Given the description of an element on the screen output the (x, y) to click on. 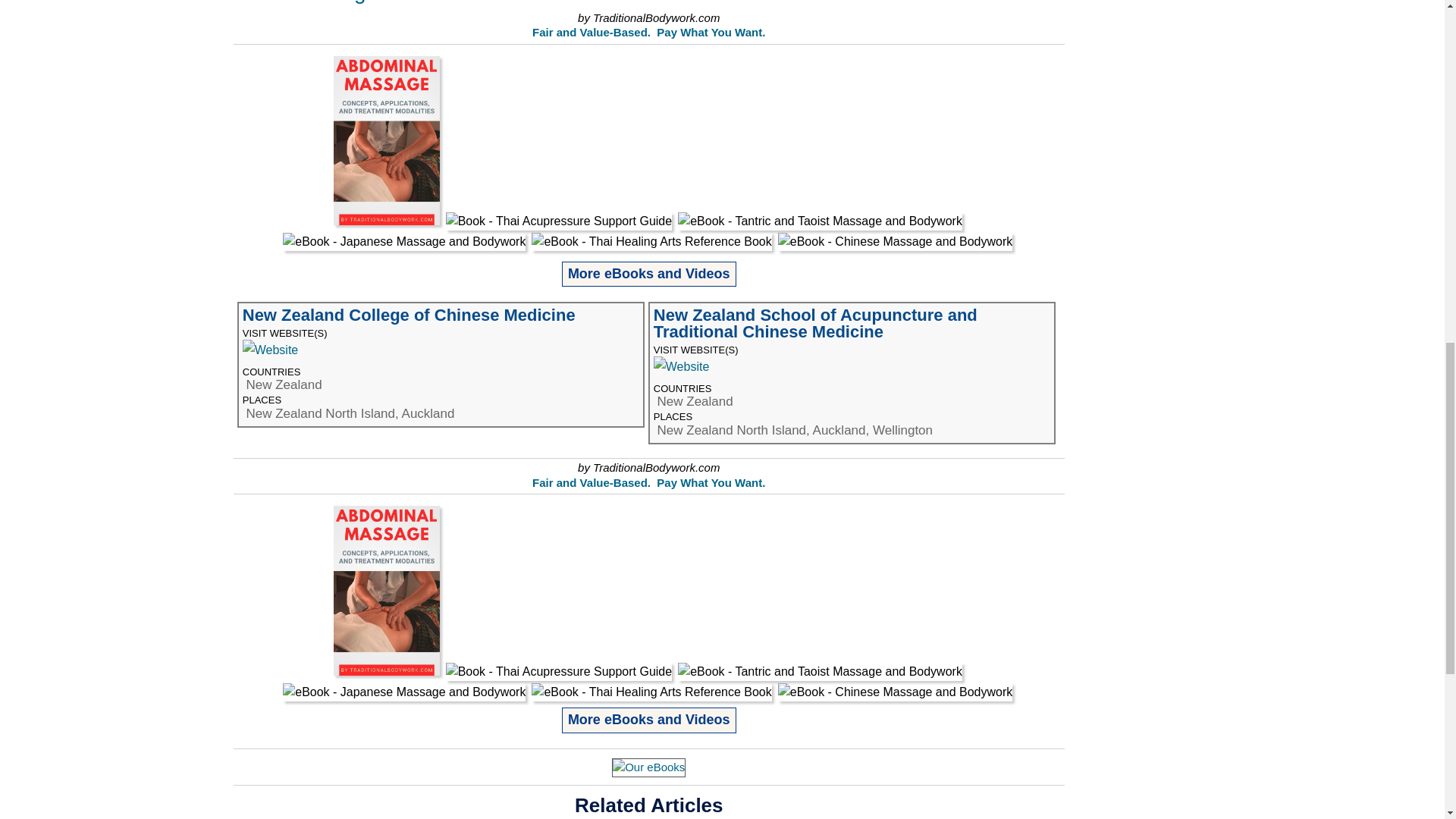
Website (270, 349)
More eBooks and Videos (649, 273)
More eBooks and Videos (649, 719)
eBook - Tantric and Taoist Massage and Bodywork (820, 221)
eBook - Thai Acupressure Support Guide (558, 221)
eBook - Tantric and Taoist Massage and Bodywork (820, 671)
Book - Japanese Massage and Bodywork (403, 241)
eBook - Thai Healing Arts Reference Book (651, 692)
New Zealand College of Chinese Medicine (273, 349)
